Given the description of an element on the screen output the (x, y) to click on. 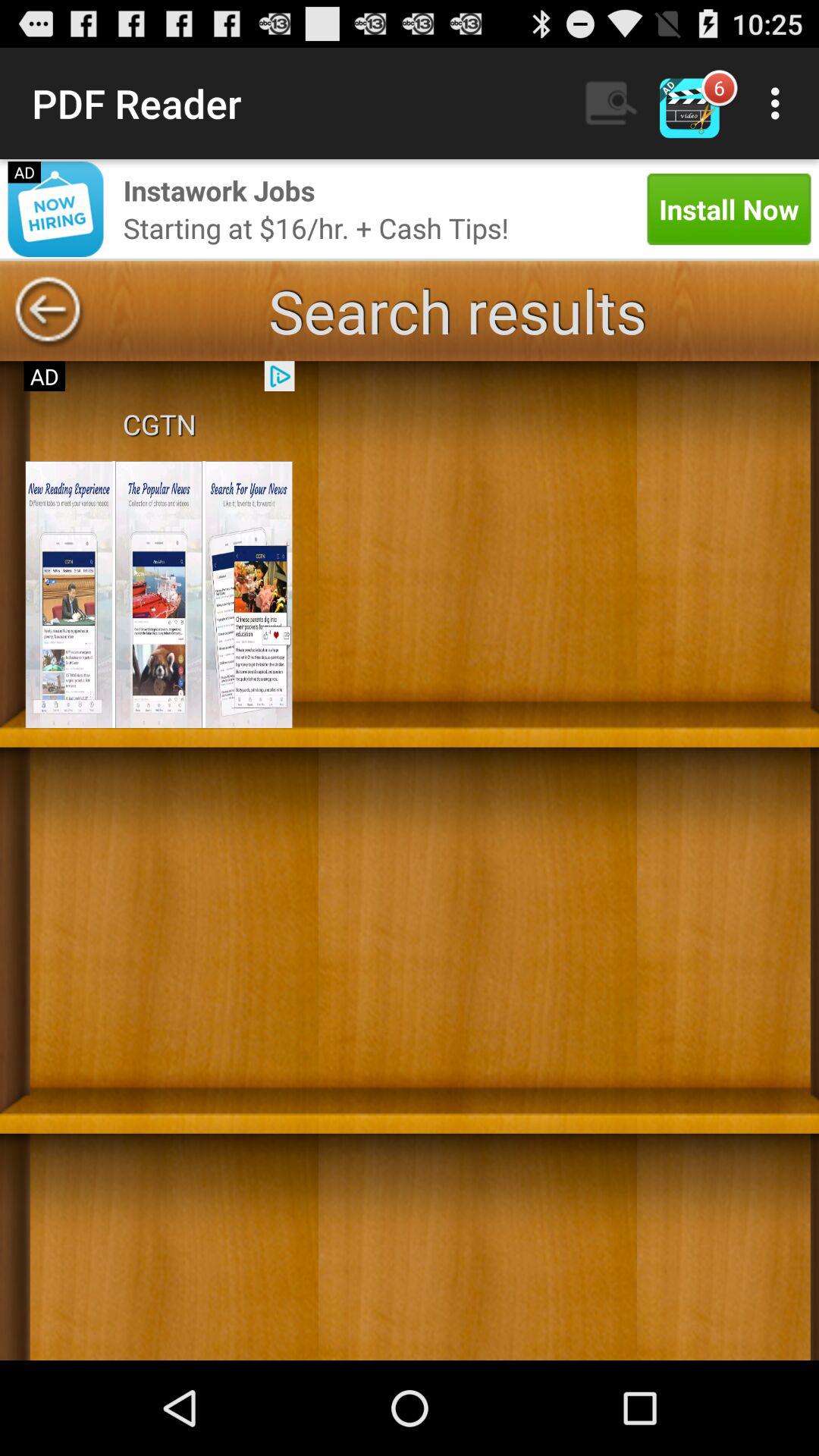
go back (47, 310)
